Given the description of an element on the screen output the (x, y) to click on. 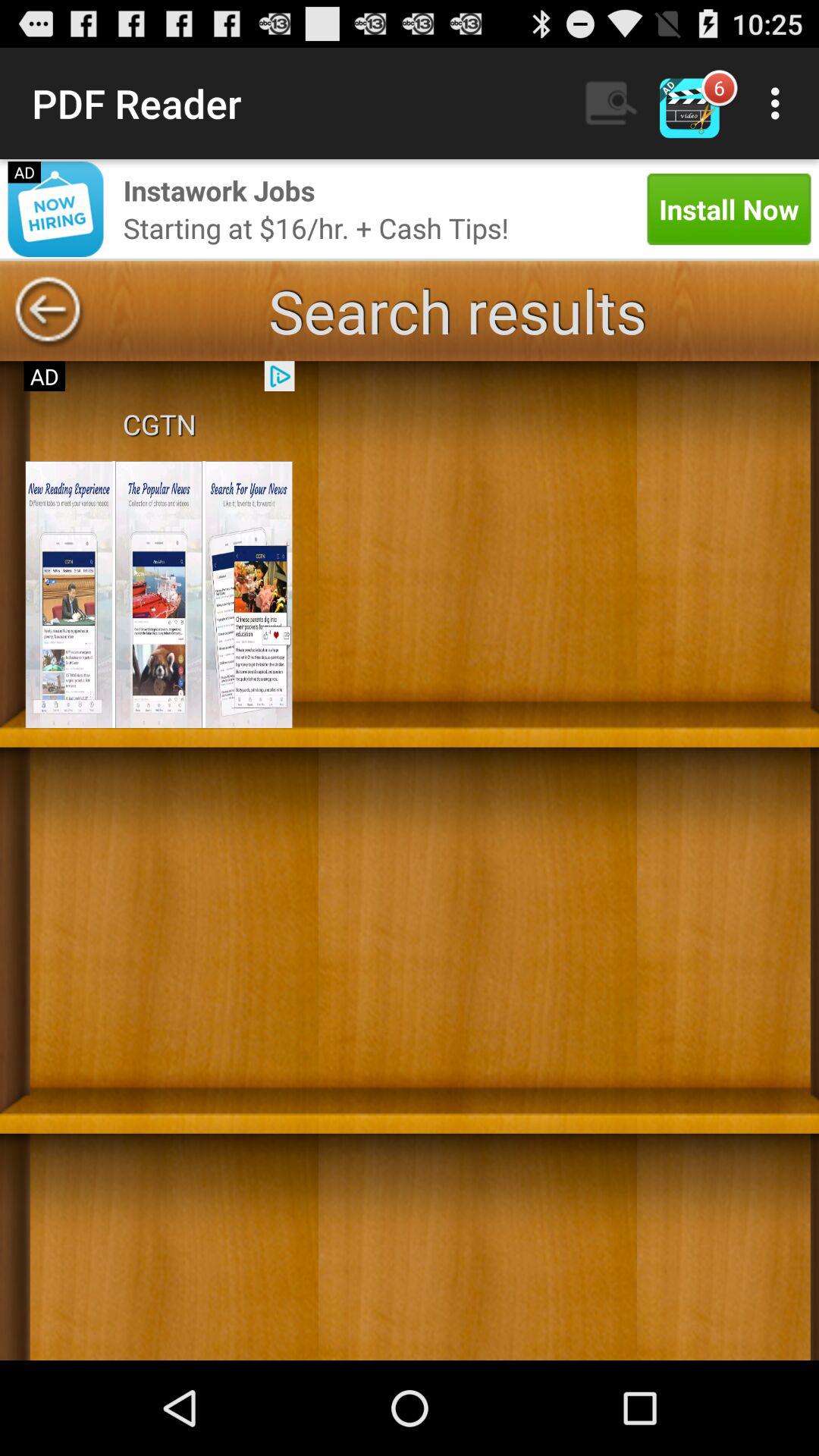
go back (47, 310)
